Given the description of an element on the screen output the (x, y) to click on. 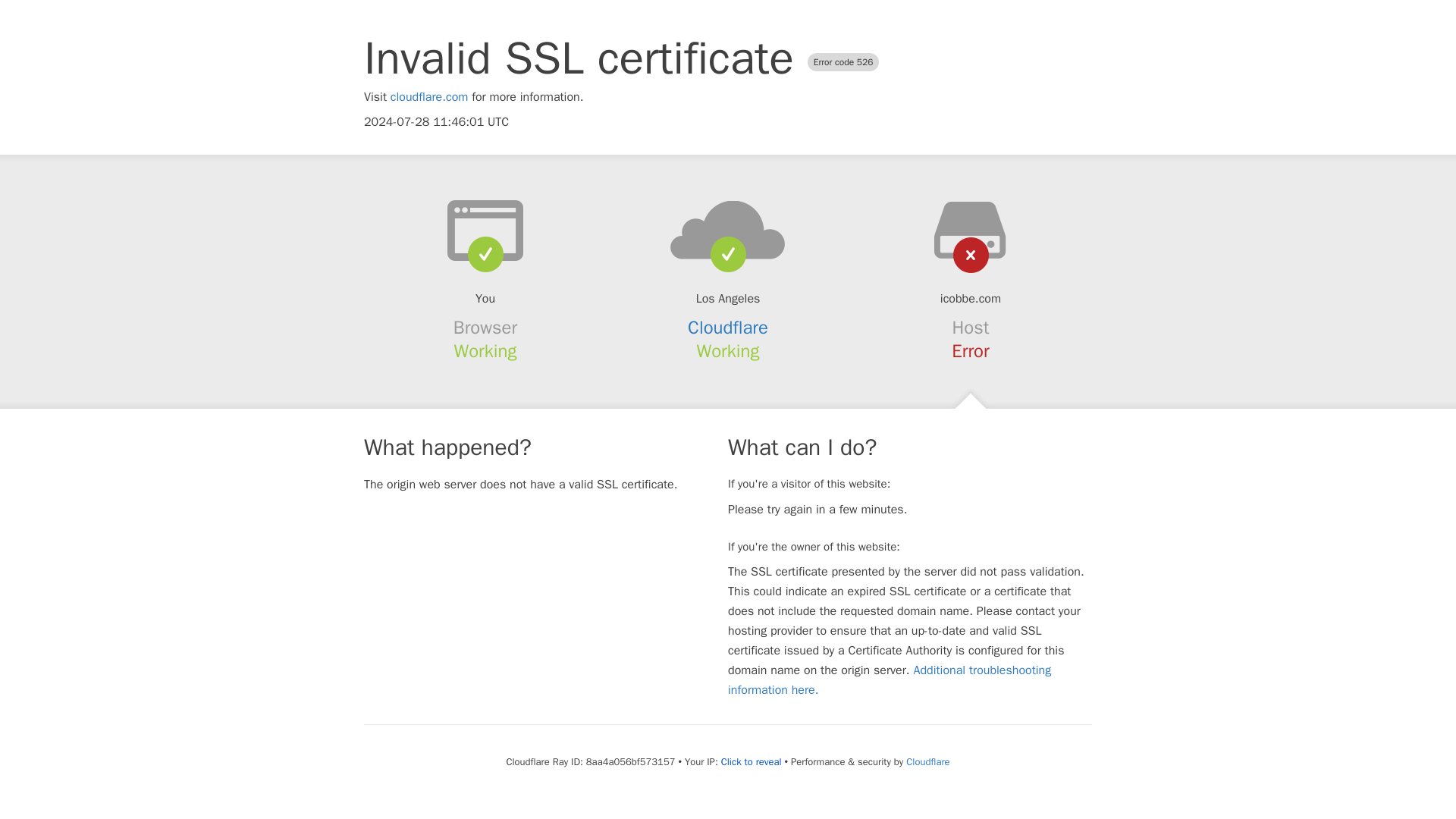
Additional troubleshooting information here. (889, 679)
Click to reveal (750, 762)
Cloudflare (727, 327)
Cloudflare (927, 761)
cloudflare.com (429, 96)
